Given the description of an element on the screen output the (x, y) to click on. 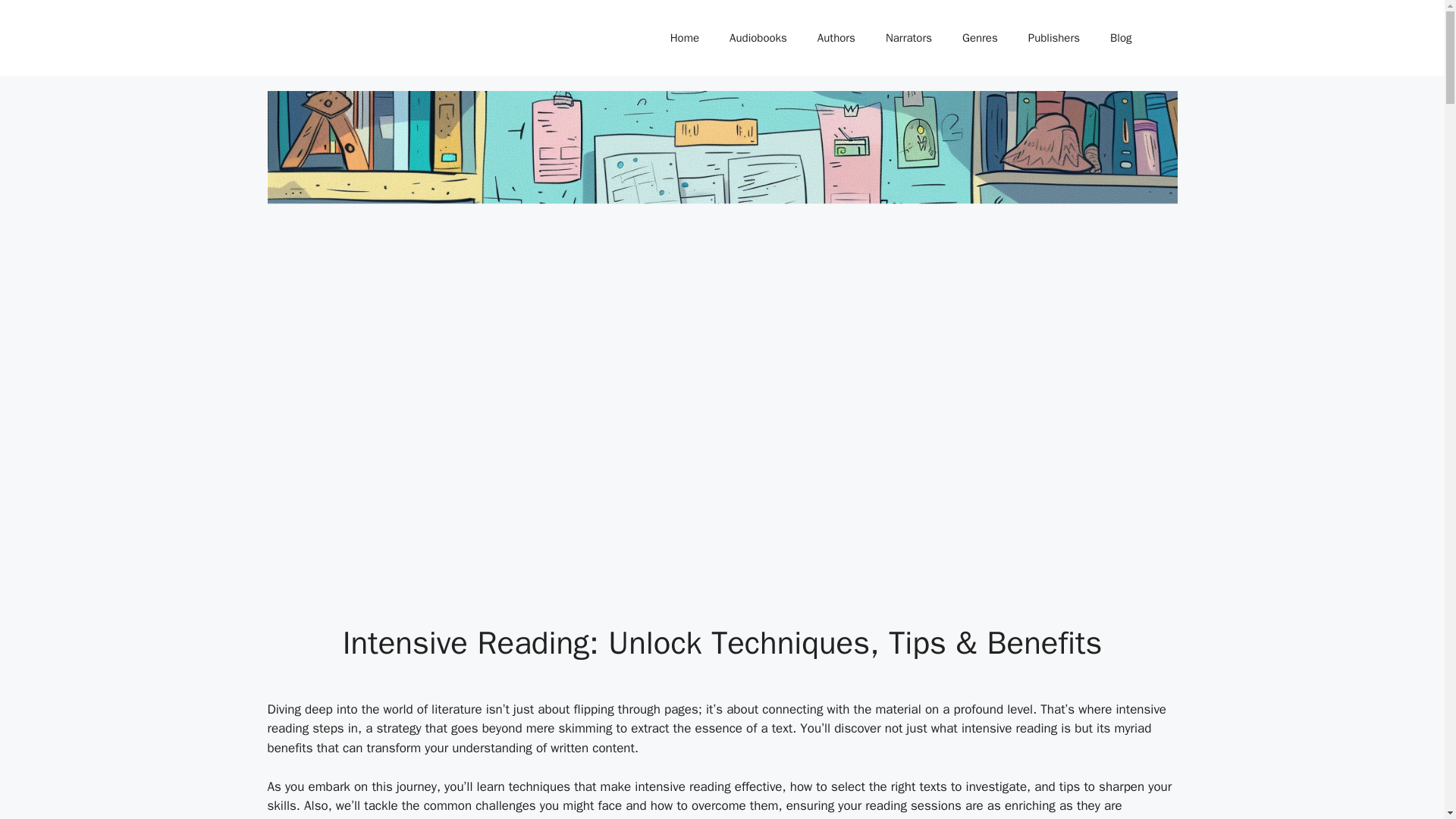
Audiobooks (758, 37)
Publishers (1053, 37)
Narrators (908, 37)
Genres (980, 37)
Authors (836, 37)
Home (684, 37)
Blog (1120, 37)
